Given the description of an element on the screen output the (x, y) to click on. 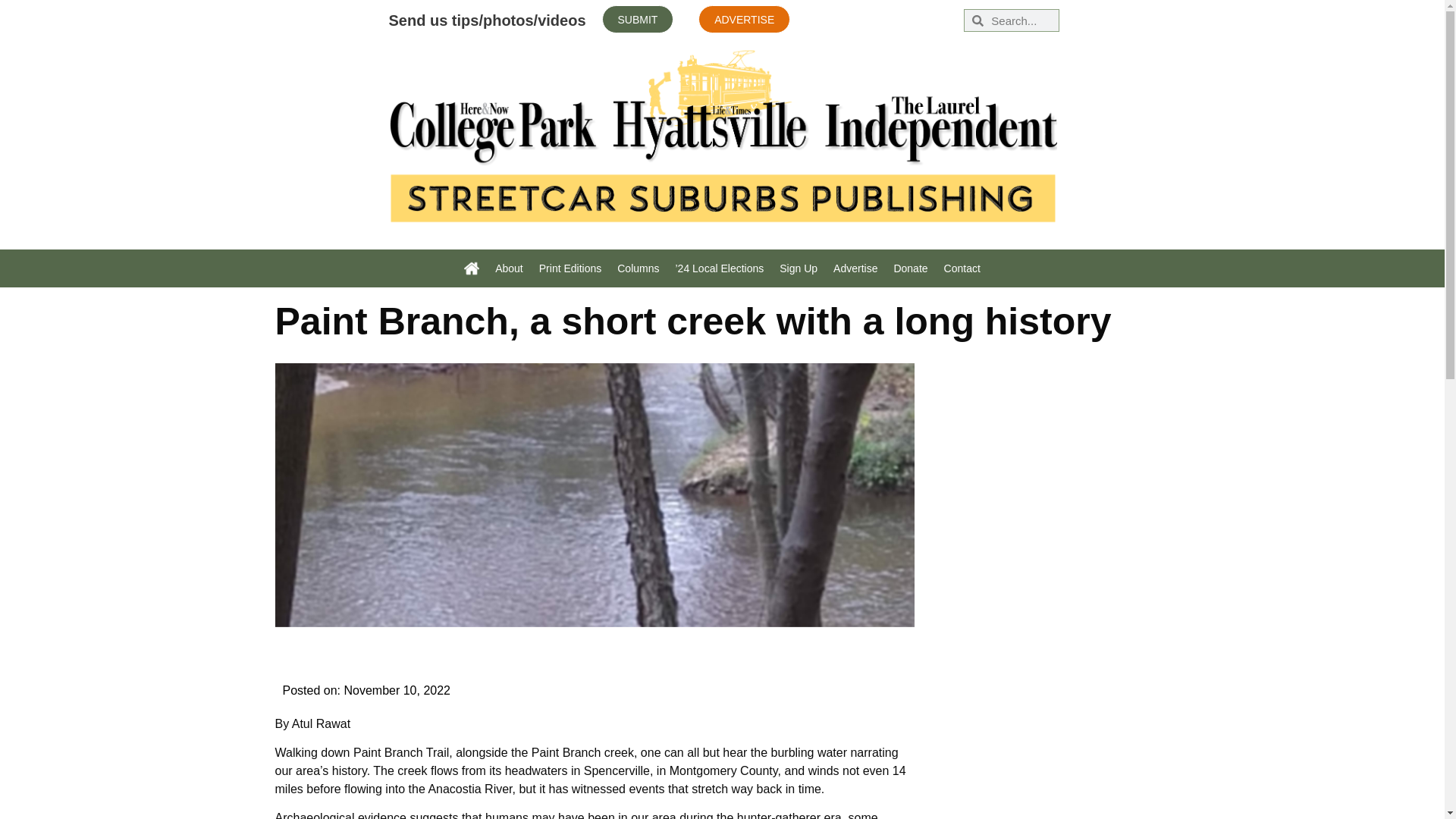
About (509, 268)
Sign Up (798, 268)
Print Editions (569, 268)
Contact (962, 268)
SUBMIT (638, 18)
Donate (909, 268)
Columns (638, 268)
ADVERTISE (744, 18)
Advertise (855, 268)
